Given the description of an element on the screen output the (x, y) to click on. 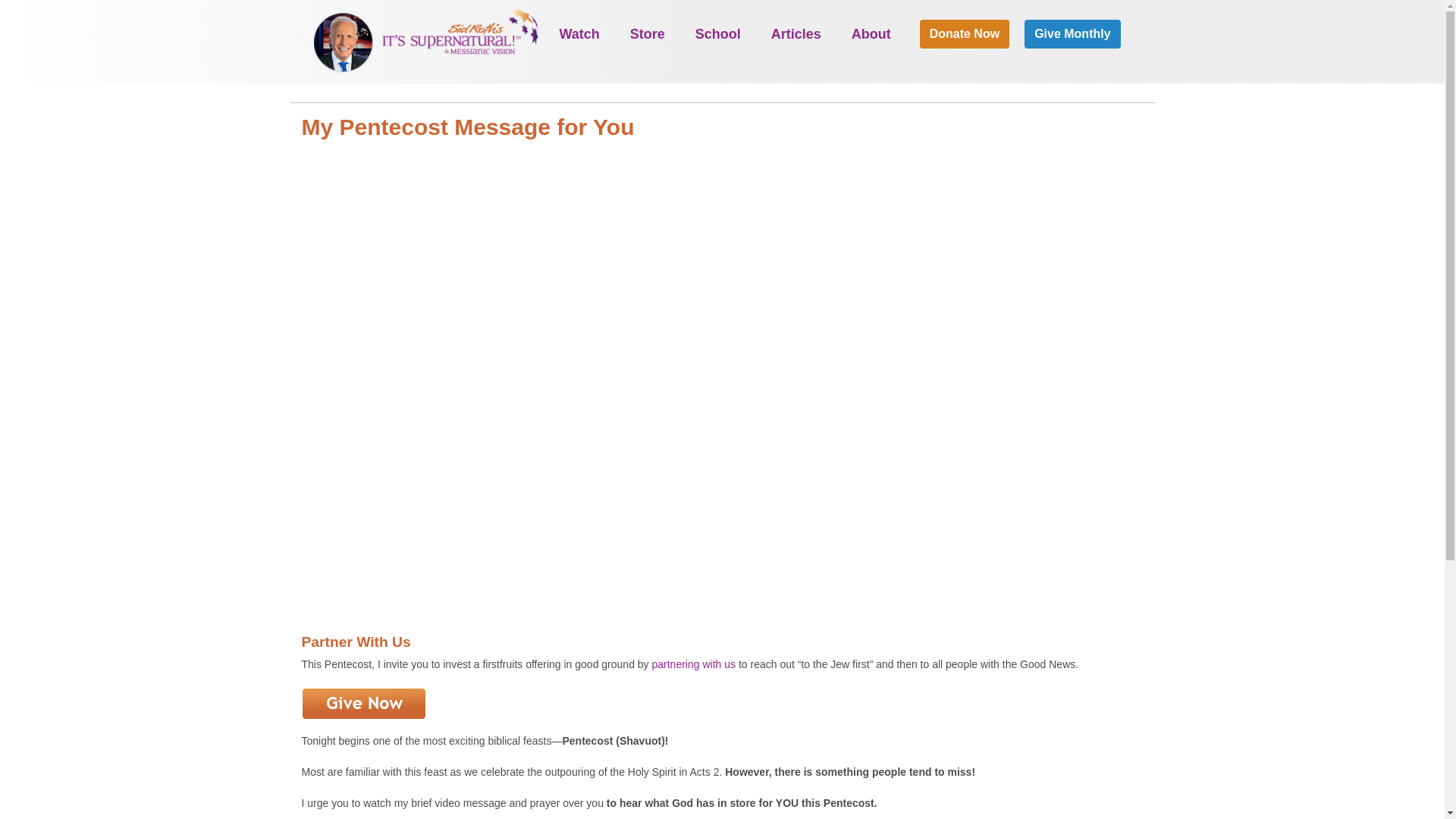
Articles (795, 33)
School (717, 33)
About (871, 33)
Give Monthly (1072, 33)
partnering with us (694, 664)
Donate Now (964, 33)
Store (647, 33)
Watch (579, 33)
